Given the description of an element on the screen output the (x, y) to click on. 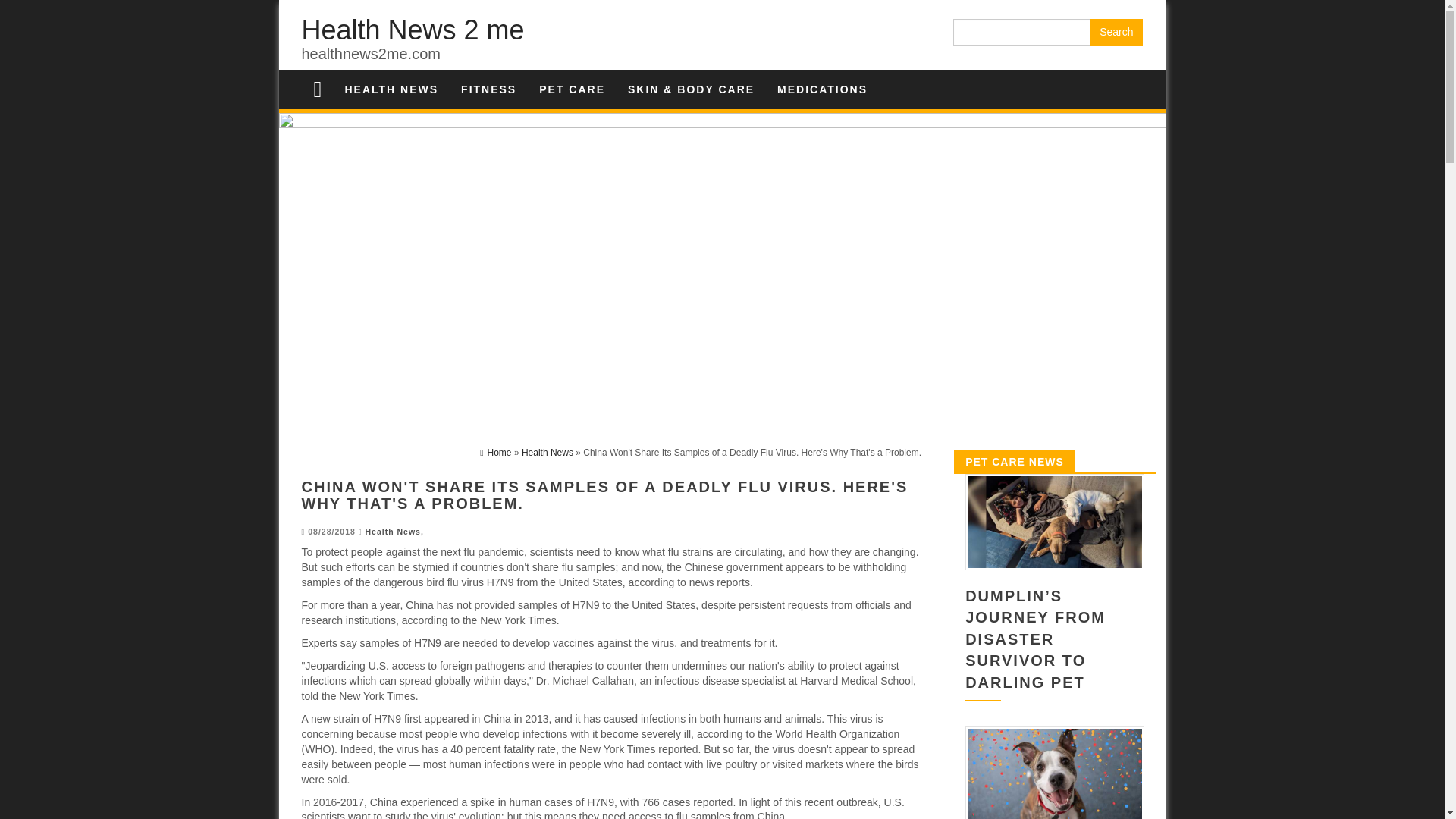
Search (1115, 31)
HEALTH NEWS (391, 89)
Health News (391, 89)
Fitness (488, 89)
MEDICATIONS (822, 89)
Home (495, 452)
Health News 2 me (412, 29)
PET CARE (571, 89)
Health News (547, 452)
Medications (822, 89)
